Given the description of an element on the screen output the (x, y) to click on. 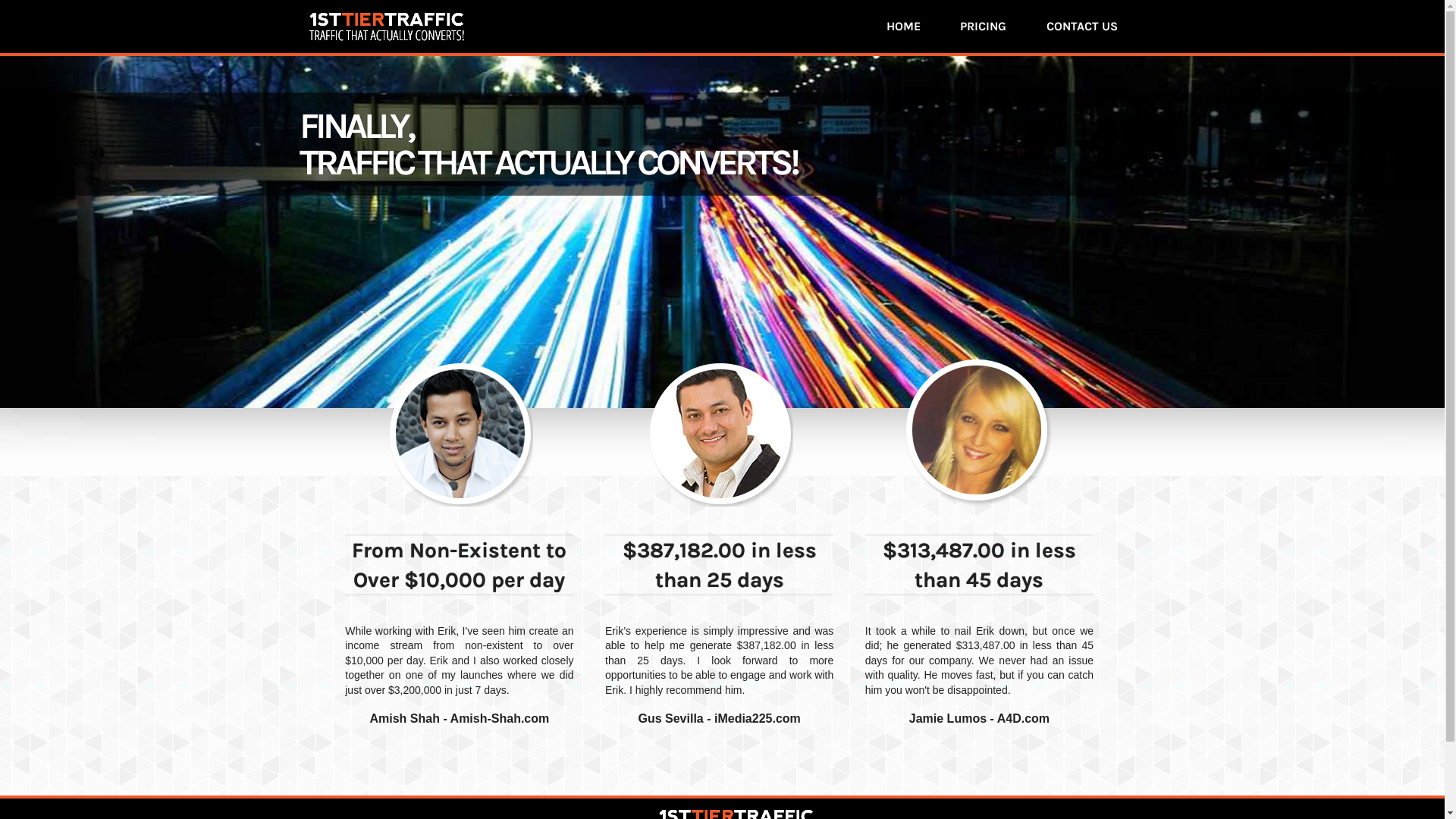
HOME Element type: text (903, 25)
CONTACT US Element type: text (1081, 25)
PRICING Element type: text (982, 25)
